Given the description of an element on the screen output the (x, y) to click on. 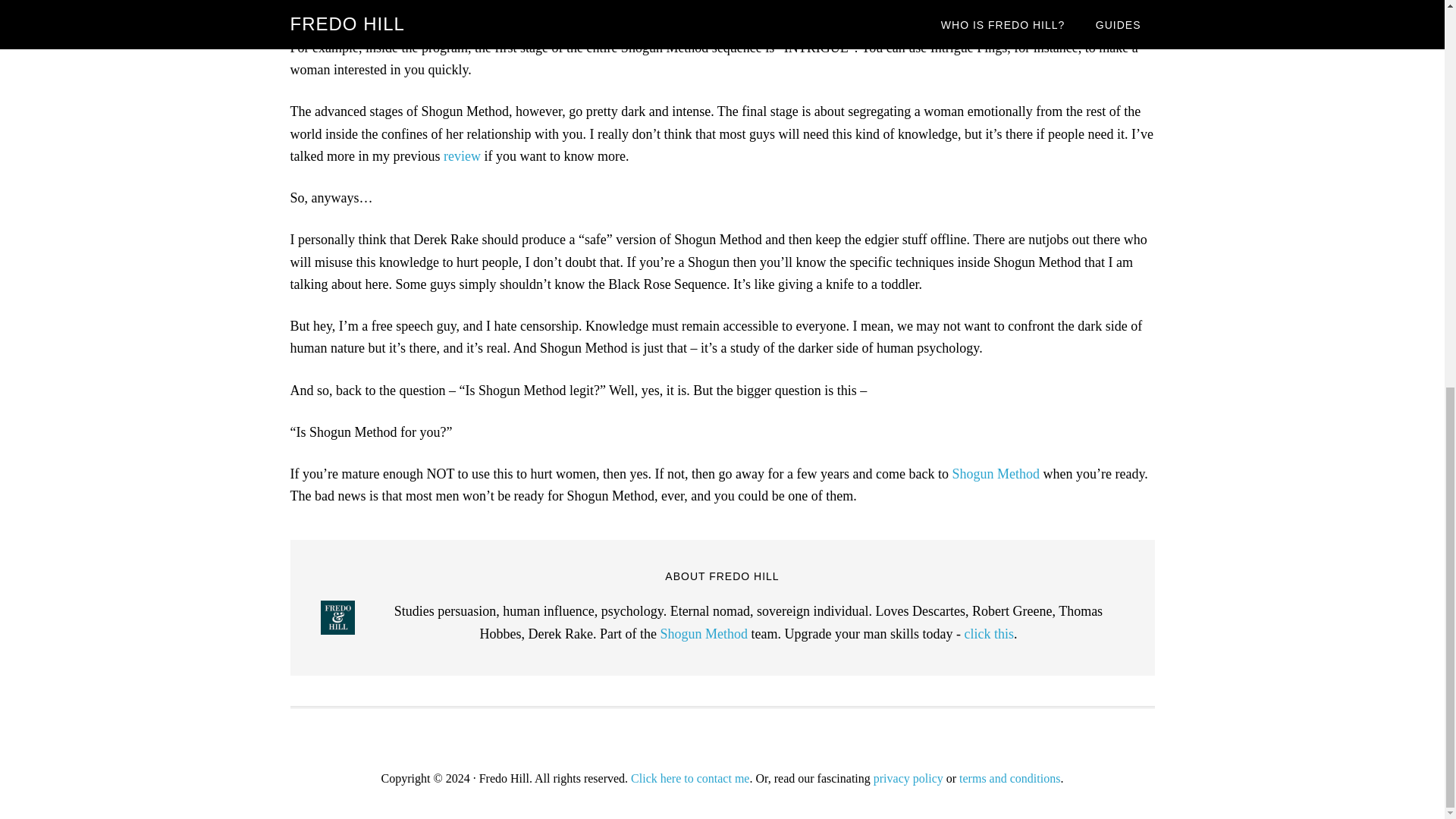
Shogun Method (703, 633)
terms and conditions (1009, 778)
Click here to contact me (689, 778)
privacy policy (908, 778)
click this (988, 633)
Shogun Method (995, 473)
review (462, 155)
